Given the description of an element on the screen output the (x, y) to click on. 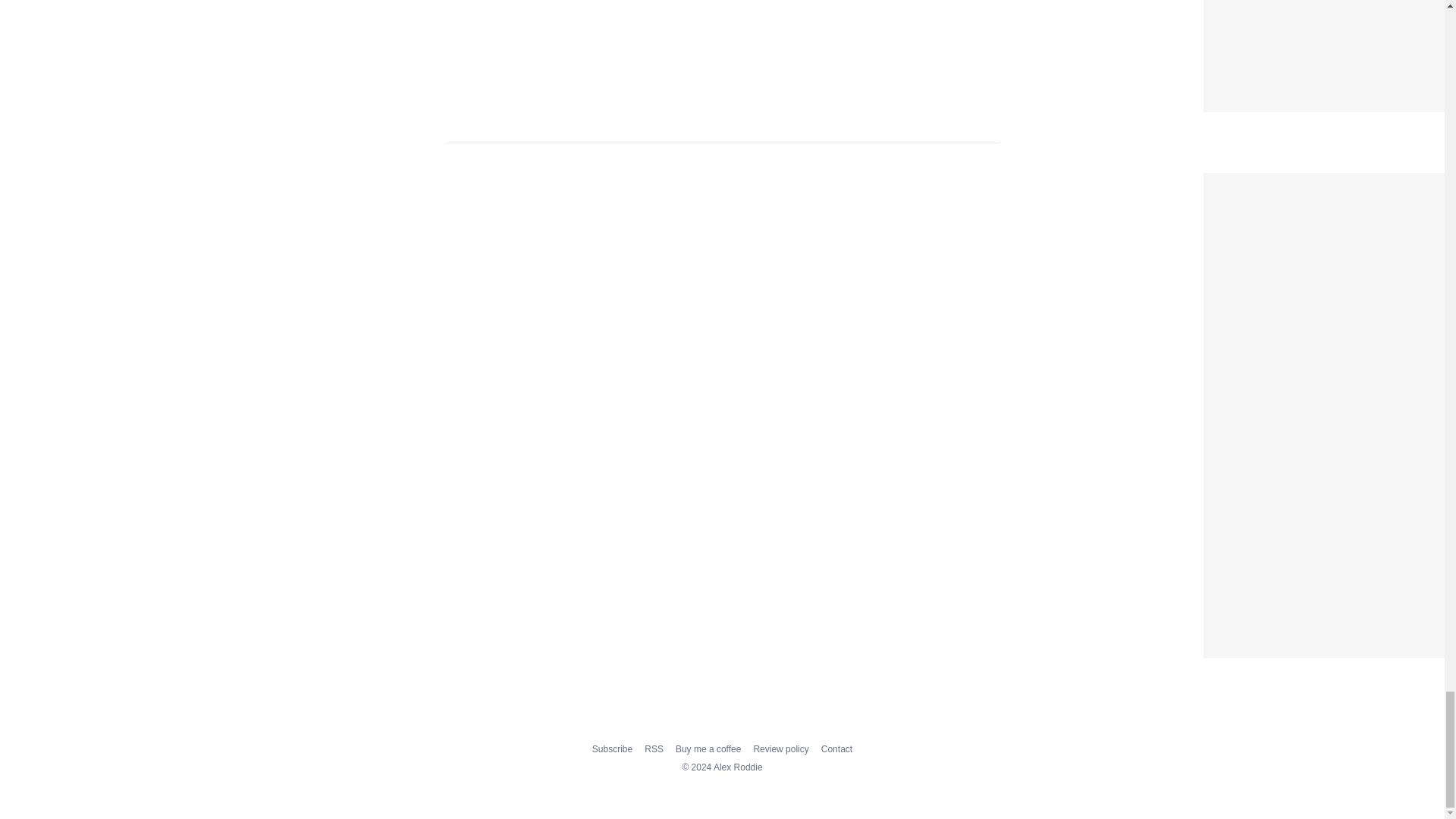
Contact (836, 748)
Buy me a coffee (708, 748)
RSS (654, 748)
Subscribe (611, 748)
Review policy (780, 748)
